Given the description of an element on the screen output the (x, y) to click on. 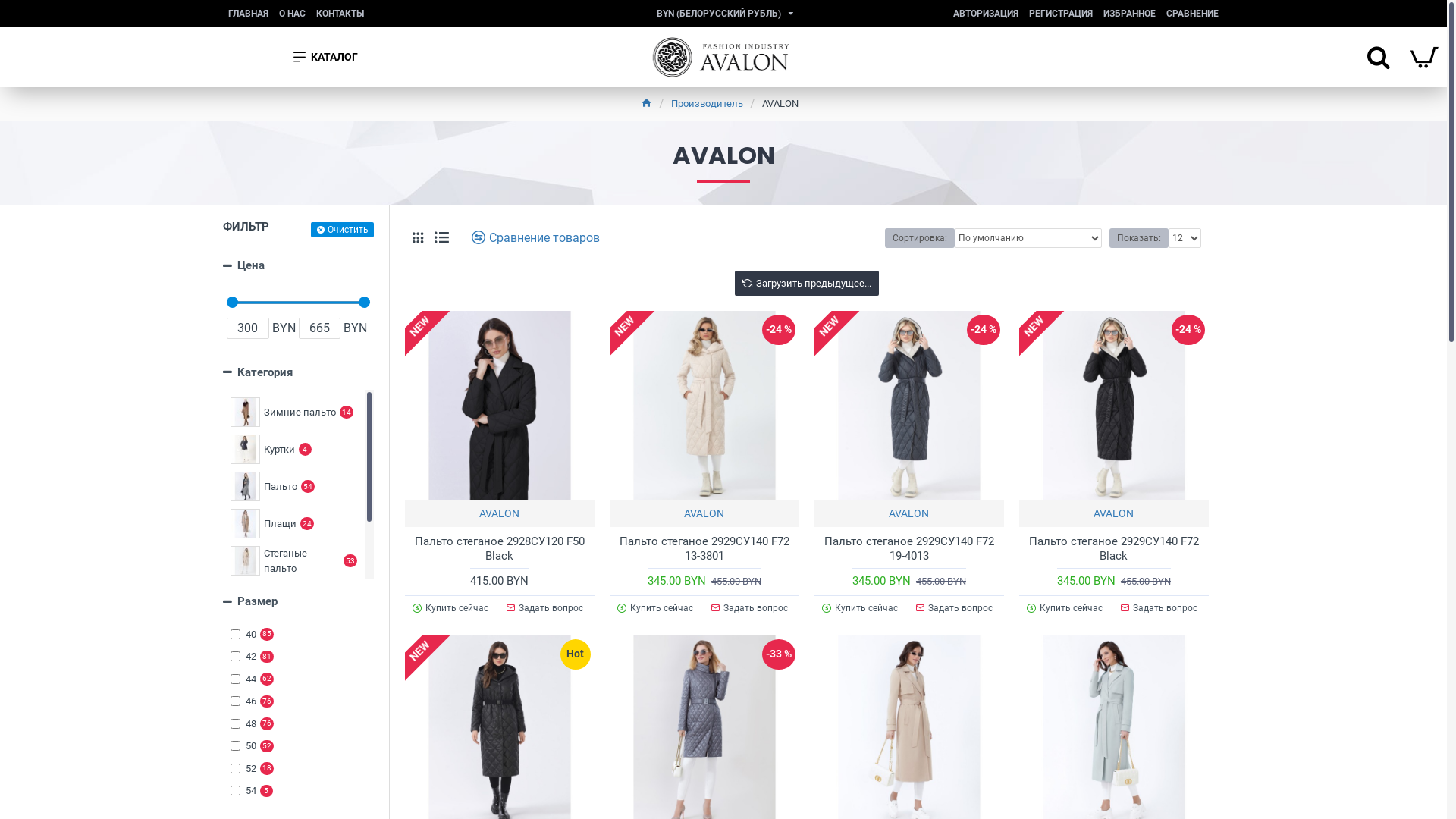
AVALON Element type: text (908, 513)
AVALON Element type: text (780, 103)
AVALON Element type: text (1113, 513)
AVALON Element type: text (704, 513)
Avalon fashion Element type: hover (718, 56)
AVALON Element type: text (499, 513)
